Given the description of an element on the screen output the (x, y) to click on. 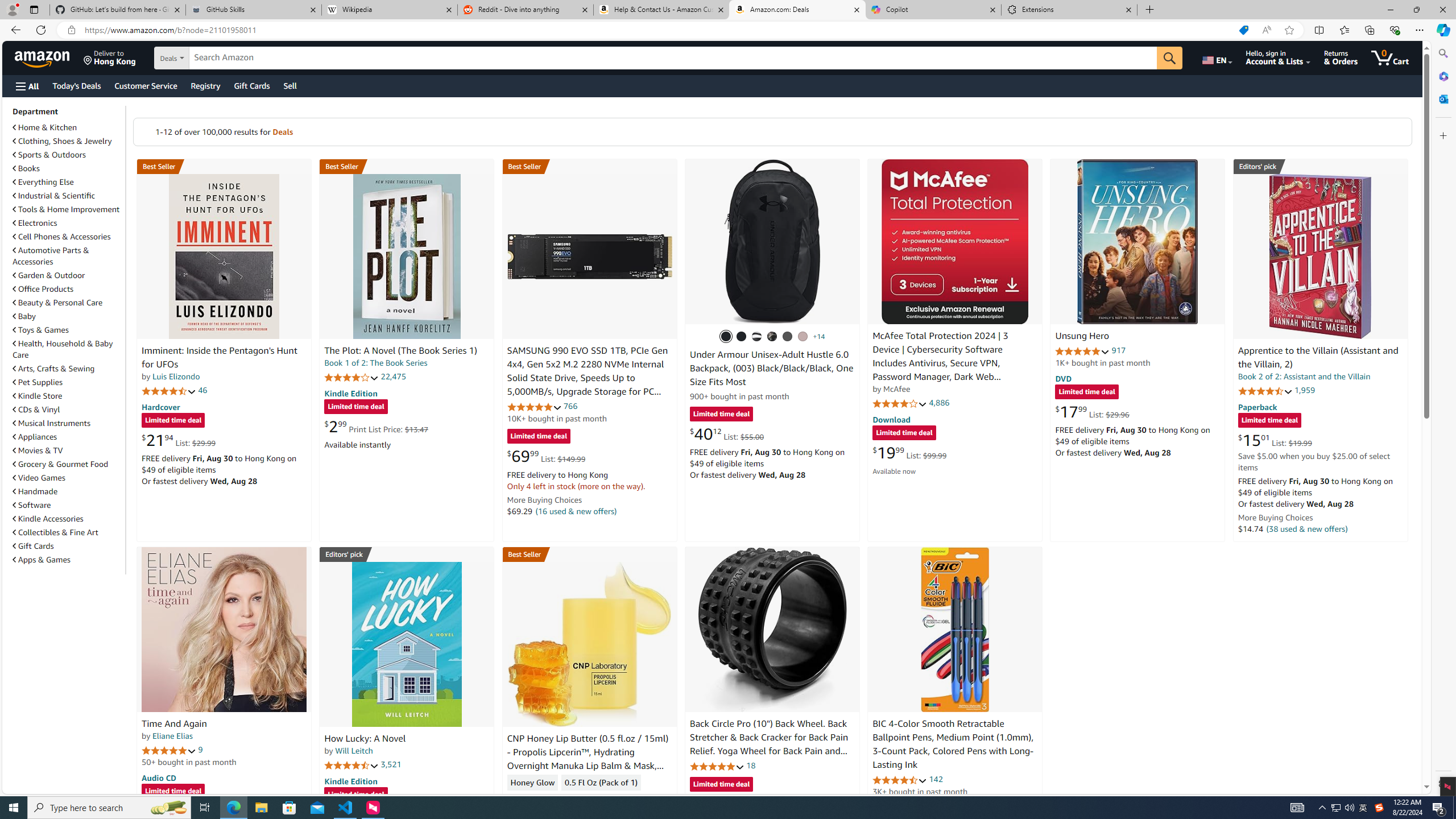
CDs & Vinyl (67, 409)
Automotive Parts & Accessories (50, 255)
Sell (290, 85)
142 (935, 778)
DVD (1063, 378)
Eliane Elias (171, 735)
Skip to main content (48, 56)
Health, Household & Baby Care (67, 348)
